Given the description of an element on the screen output the (x, y) to click on. 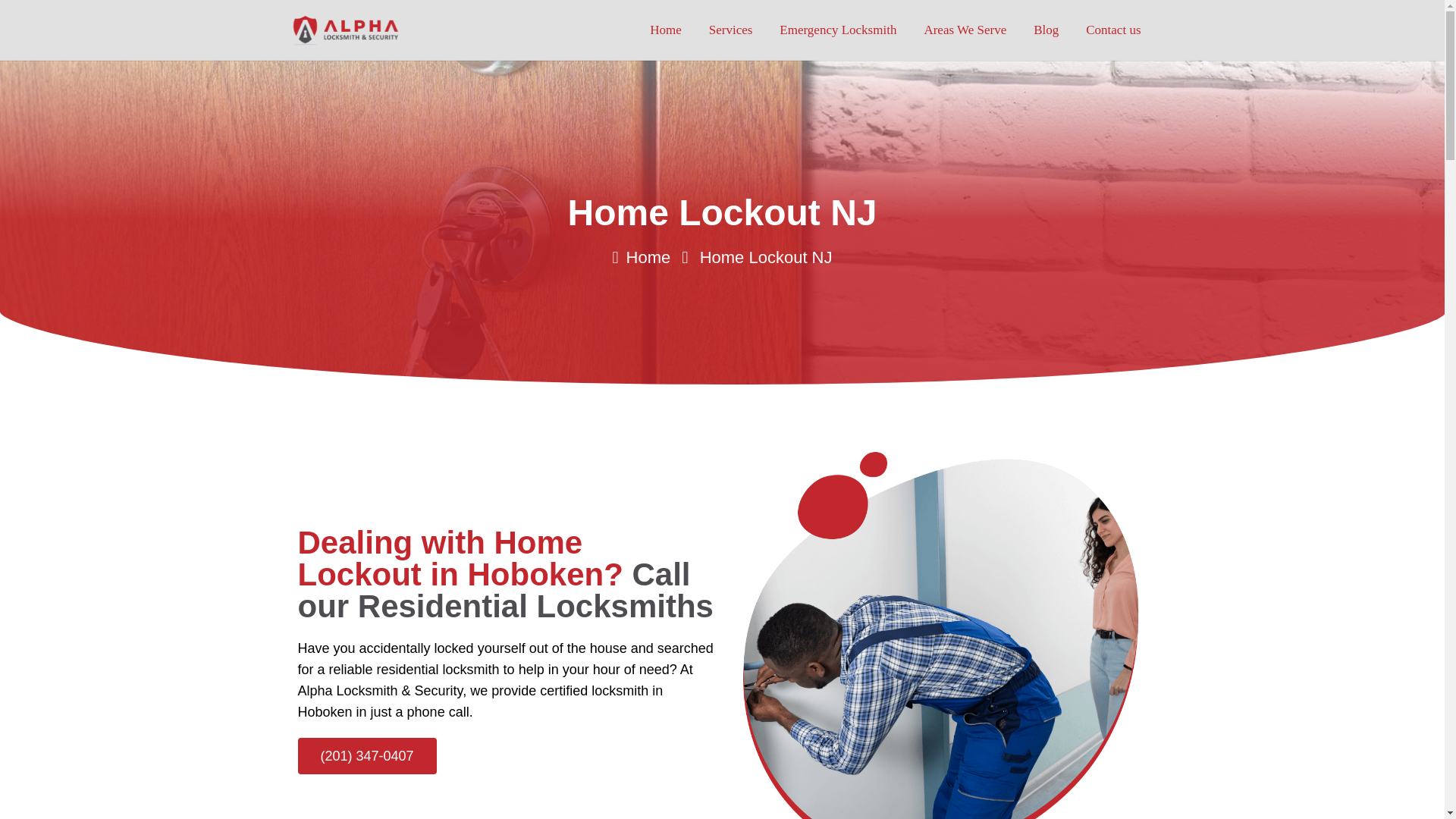
Home (641, 257)
Home (665, 30)
Emergency Locksmith (837, 30)
Services (731, 30)
Contact us (1112, 30)
Areas We Serve (965, 30)
